Given the description of an element on the screen output the (x, y) to click on. 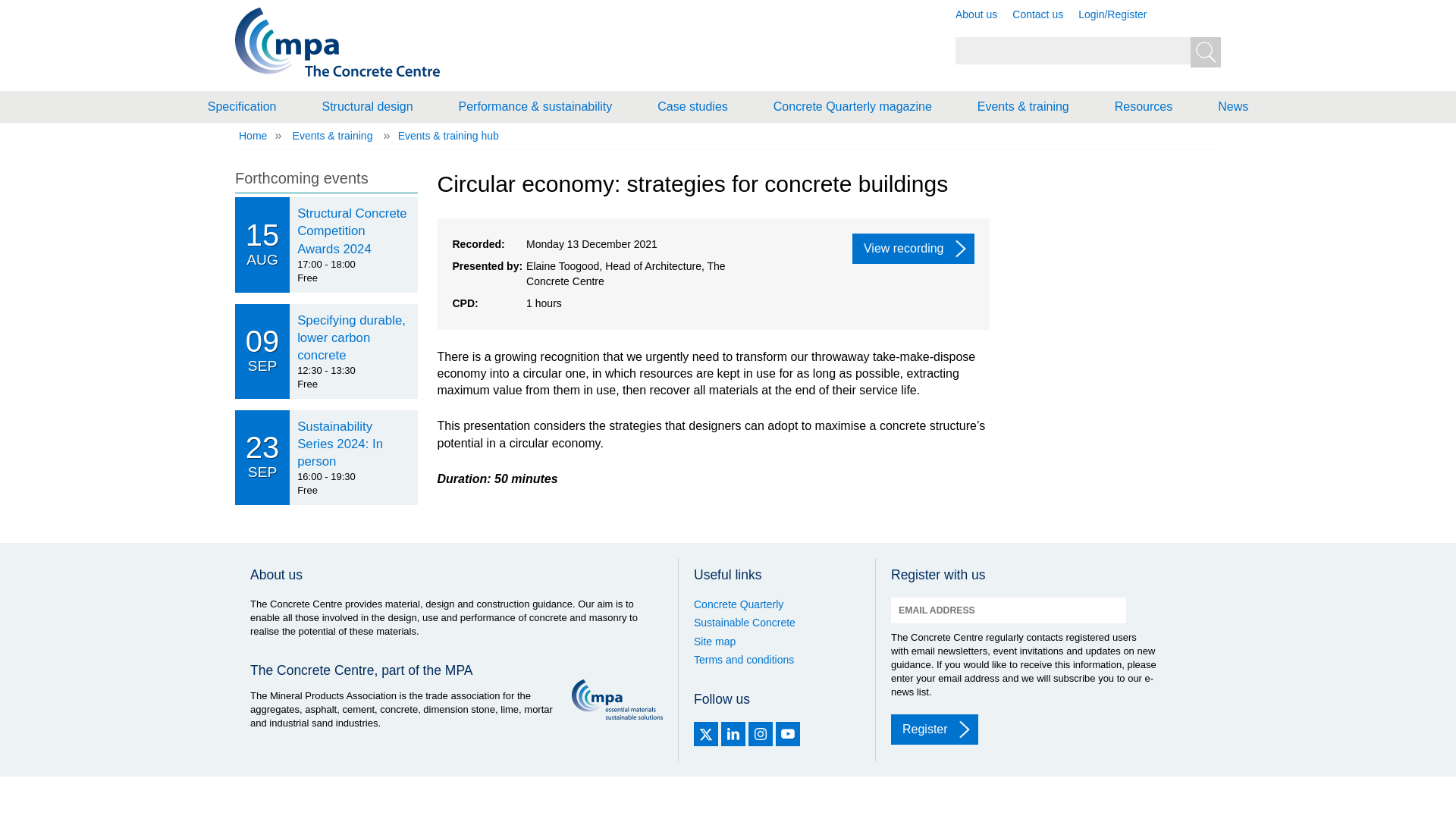
Search (1206, 51)
Concrete Quarterly magazine (852, 106)
Register (934, 729)
Specification (241, 106)
News (1232, 106)
Structural design (367, 106)
Resources (1142, 106)
Case studies (692, 106)
